Given the description of an element on the screen output the (x, y) to click on. 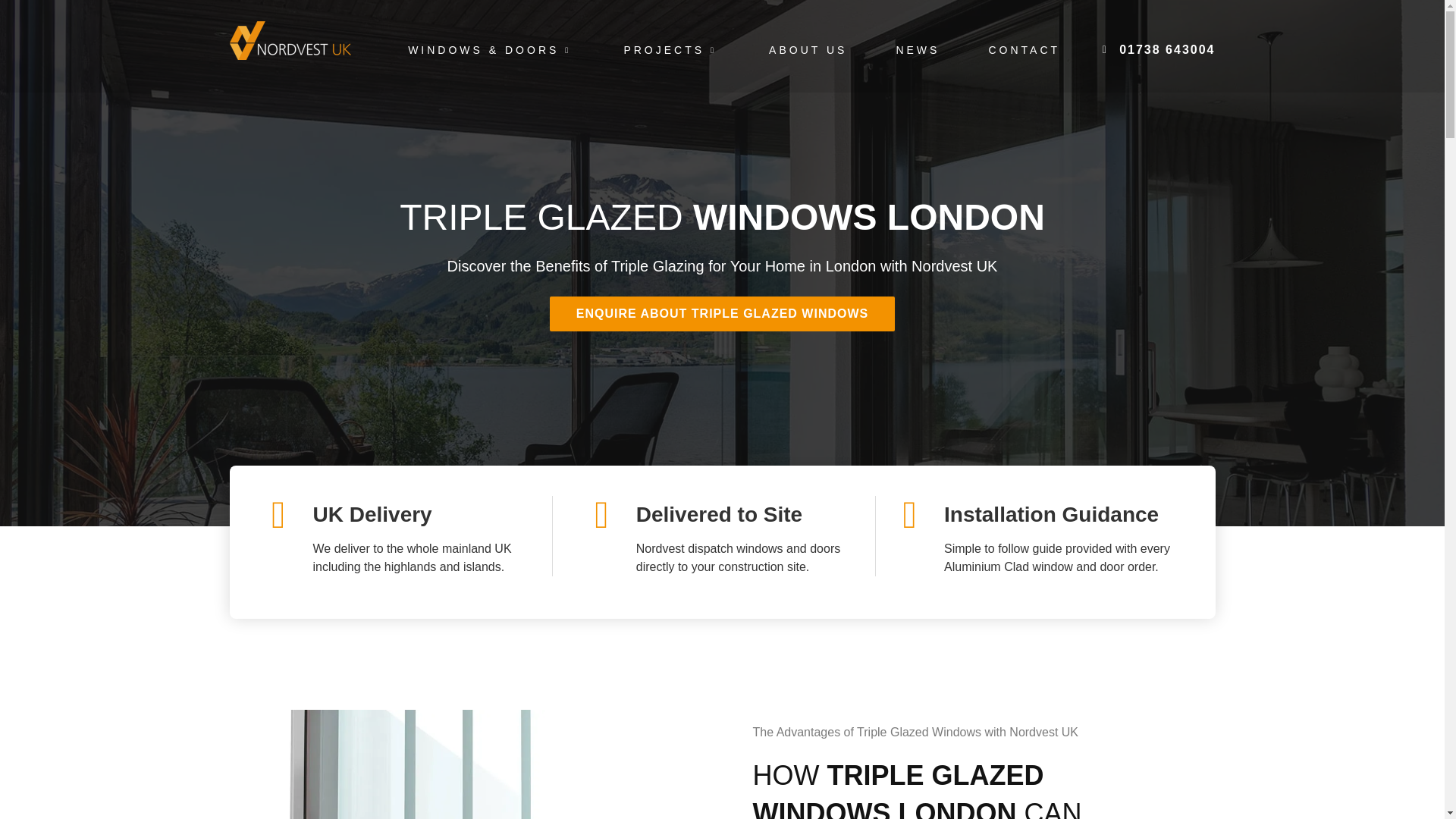
PROJECTS (671, 49)
Nordvest uk windows supplier (289, 40)
